Given the description of an element on the screen output the (x, y) to click on. 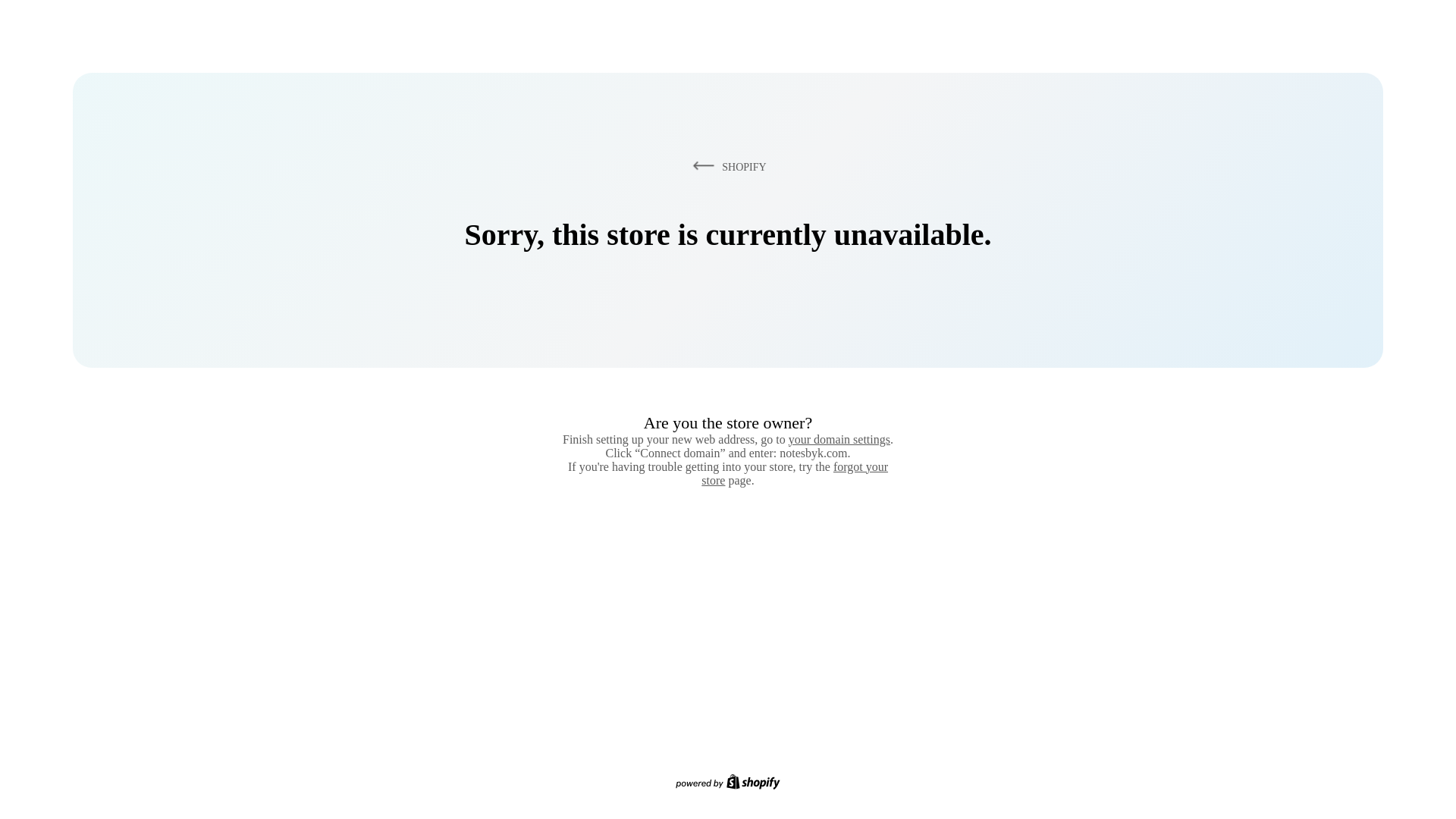
forgot your store (794, 473)
SHOPIFY (726, 166)
your domain settings (839, 439)
